Given the description of an element on the screen output the (x, y) to click on. 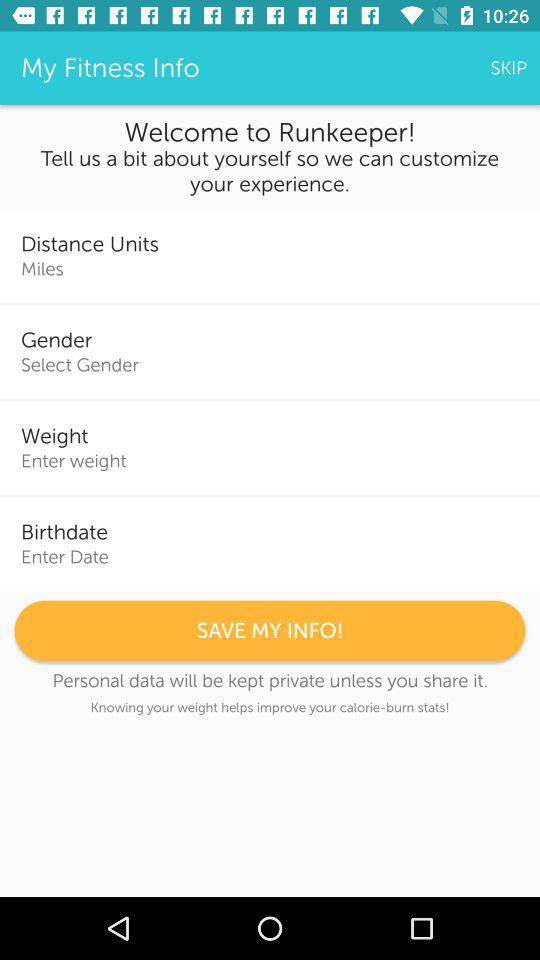
click the item at the top right corner (508, 67)
